Given the description of an element on the screen output the (x, y) to click on. 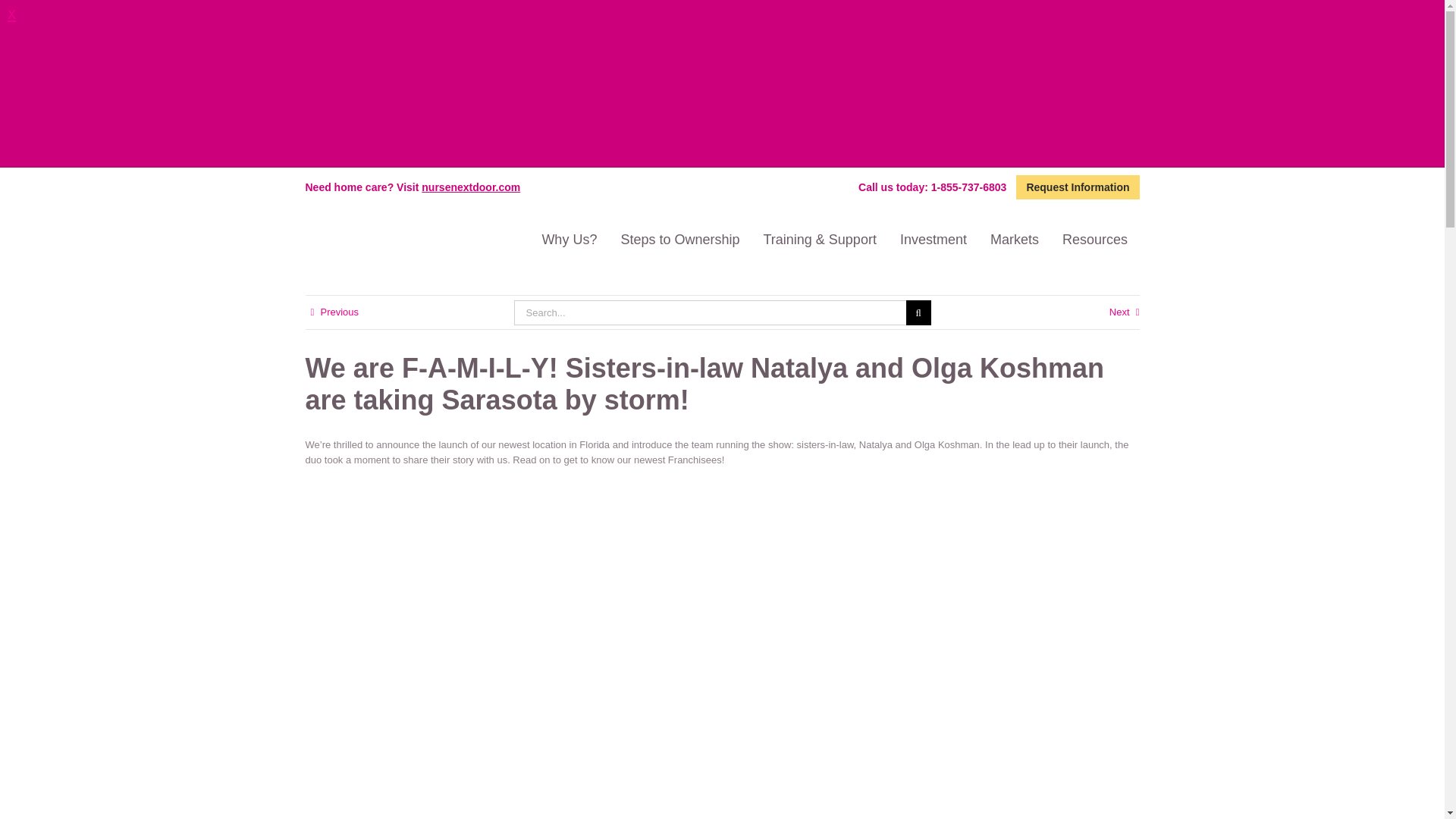
Call us today: 1-855-737-6803 (932, 187)
Why a Senior Care Franchise with Nurse Next Door (568, 239)
Previous (339, 312)
Why Us? (568, 239)
Need home care? Visit nursenextdoor.com (411, 186)
Investment (933, 239)
Request Information (1077, 187)
Steps to Ownership (679, 239)
Resources (1093, 239)
Markets (1013, 239)
